Given the description of an element on the screen output the (x, y) to click on. 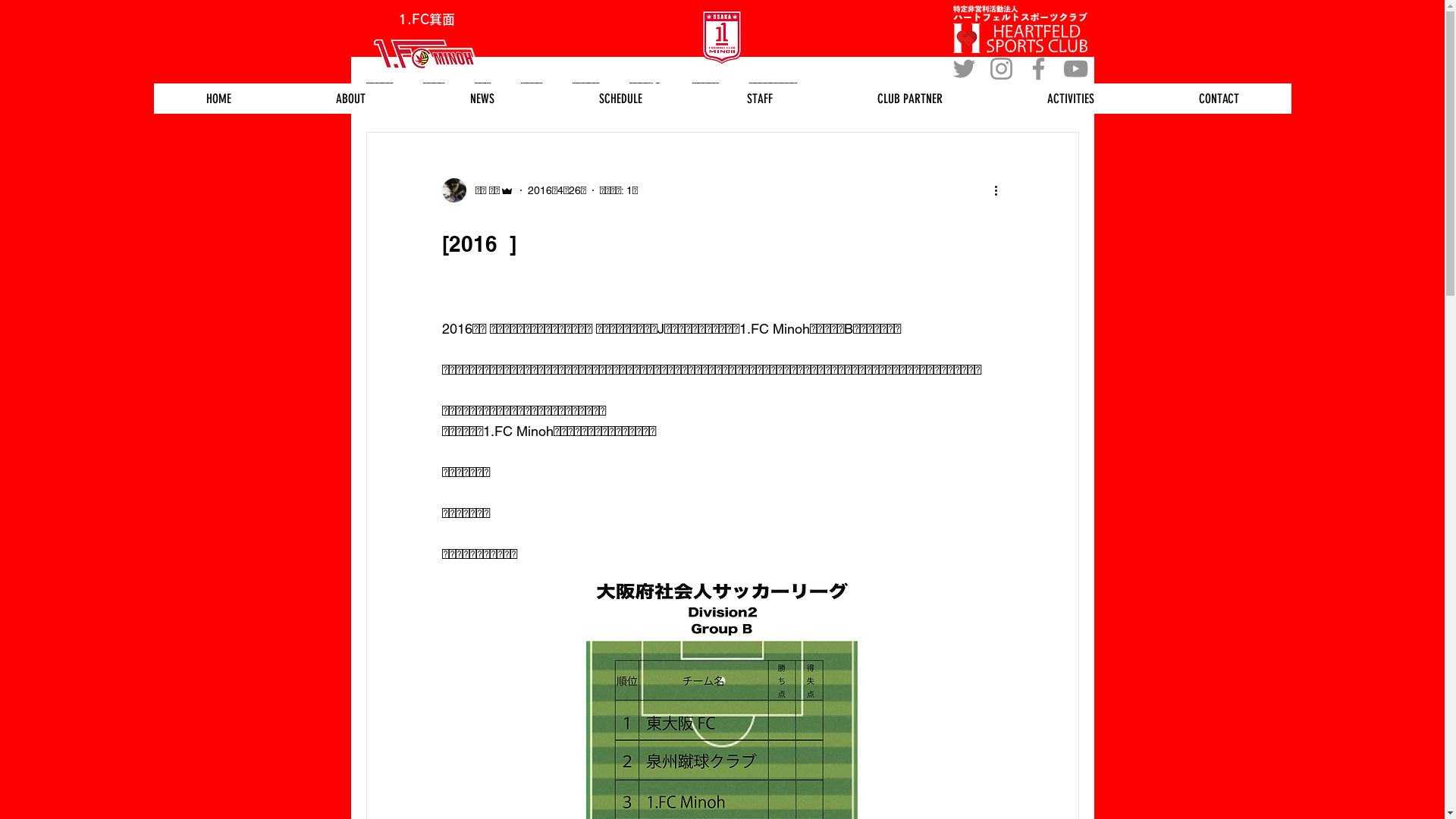
SCHEDULE Element type: text (619, 98)
CONTACT Element type: text (1218, 98)
STAFF Element type: text (759, 98)
HOME Element type: text (217, 98)
ABOUT Element type: text (350, 98)
ACTIVITIES Element type: text (1070, 98)
NEWS Element type: text (481, 98)
CLUB PARTNER Element type: text (909, 98)
